Given the description of an element on the screen output the (x, y) to click on. 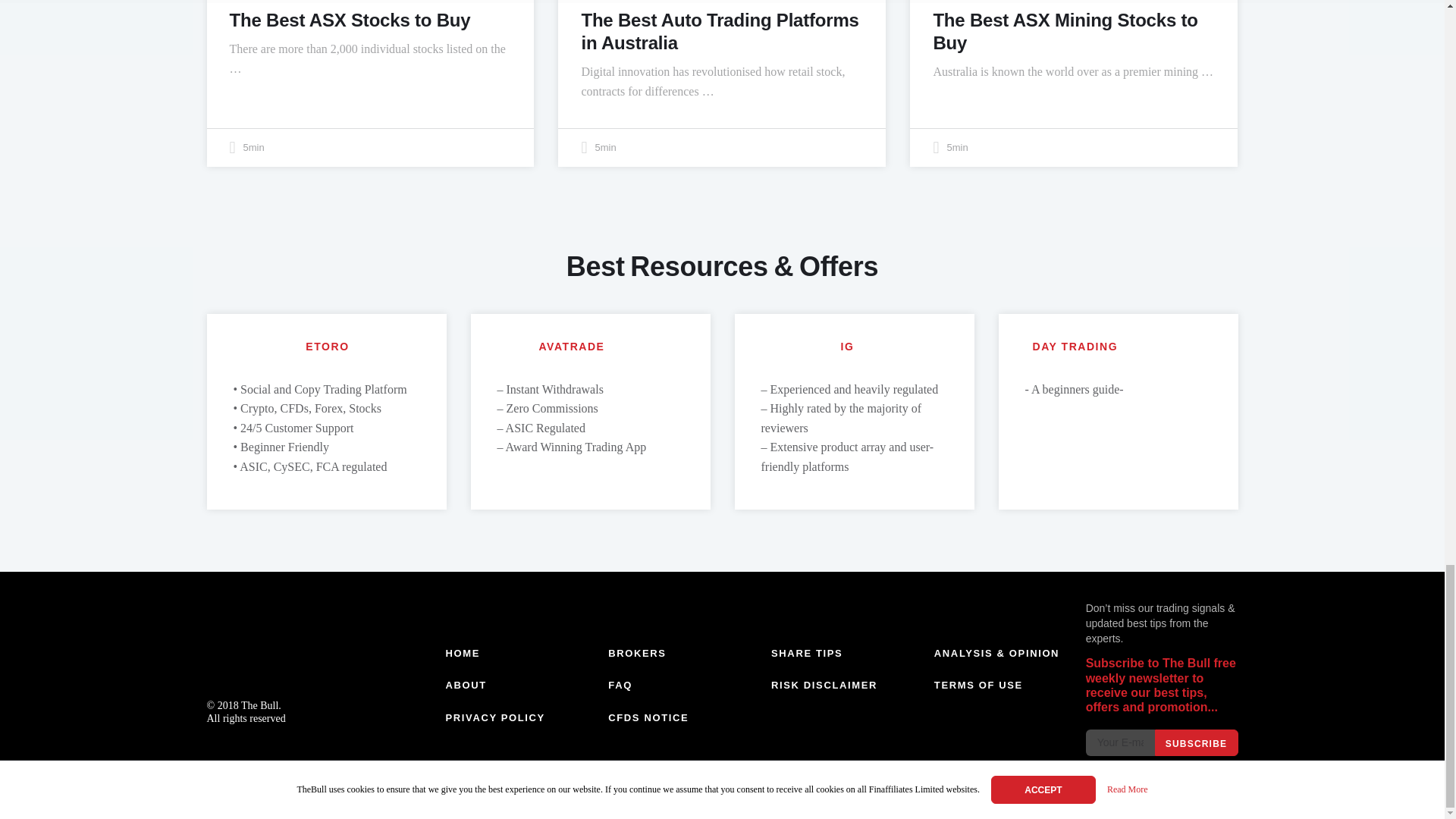
The Best Auto Trading Platforms in Australia (719, 31)
The Best ASX Stocks to Buy (349, 19)
Subscribe (1195, 742)
